Given the description of an element on the screen output the (x, y) to click on. 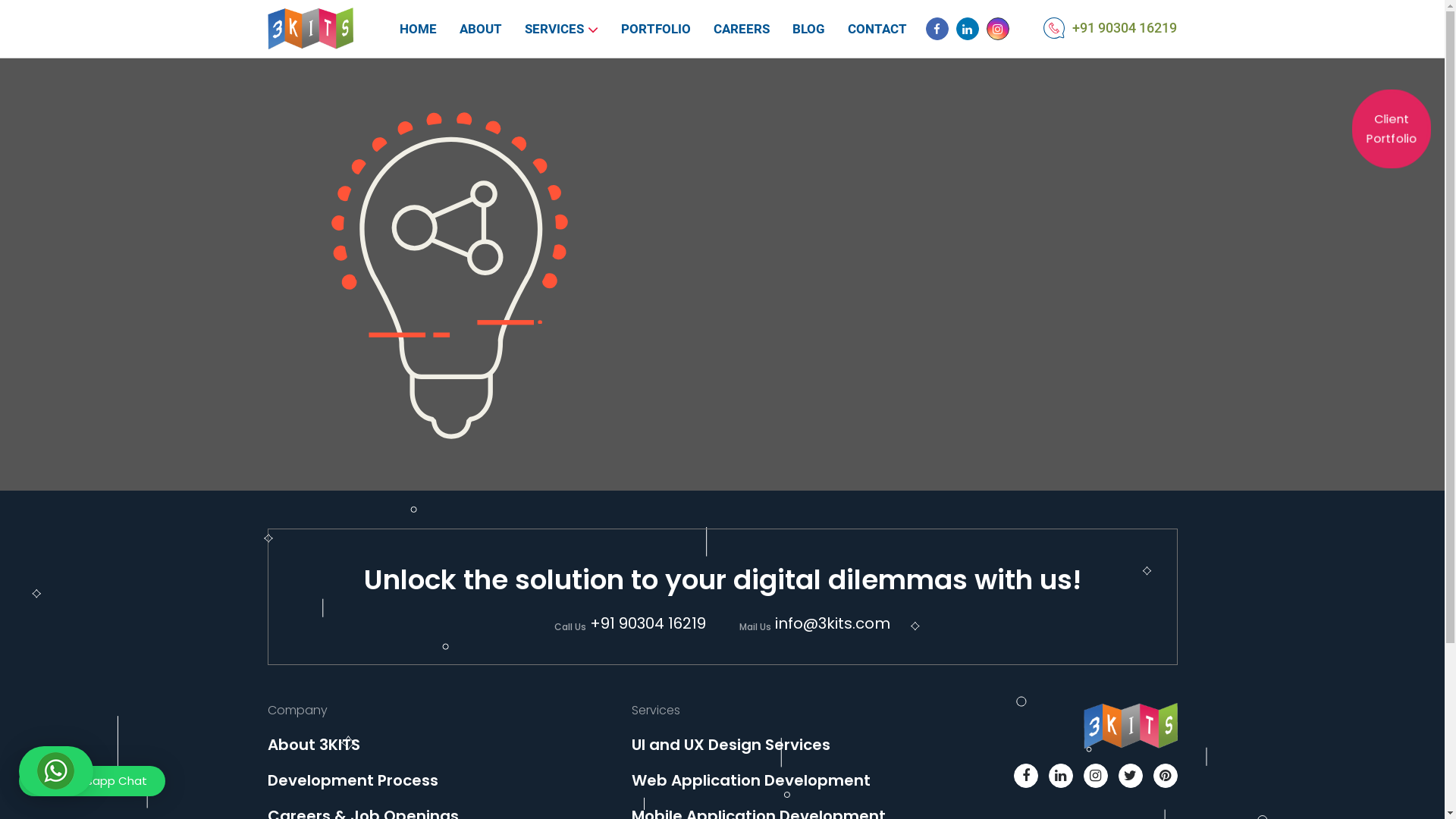
HOME Element type: text (417, 29)
CONTACT Element type: text (876, 29)
UI and UX Design Services Element type: text (729, 744)
About 3KITS Element type: text (312, 744)
ABOUT Element type: text (480, 29)
PORTFOLIO Element type: text (655, 29)
Client Portfolio Element type: text (1387, 125)
Whatsapp Chat Element type: text (91, 780)
info@3kits.com Element type: text (832, 622)
CAREERS Element type: text (741, 29)
Web Application Development Element type: text (749, 780)
Development Process Element type: text (351, 780)
+91 90304 16219 Element type: text (1124, 27)
+91 90304 16219 Element type: text (647, 622)
SERVICES Element type: text (553, 29)
BLOG Element type: text (808, 29)
